Given the description of an element on the screen output the (x, y) to click on. 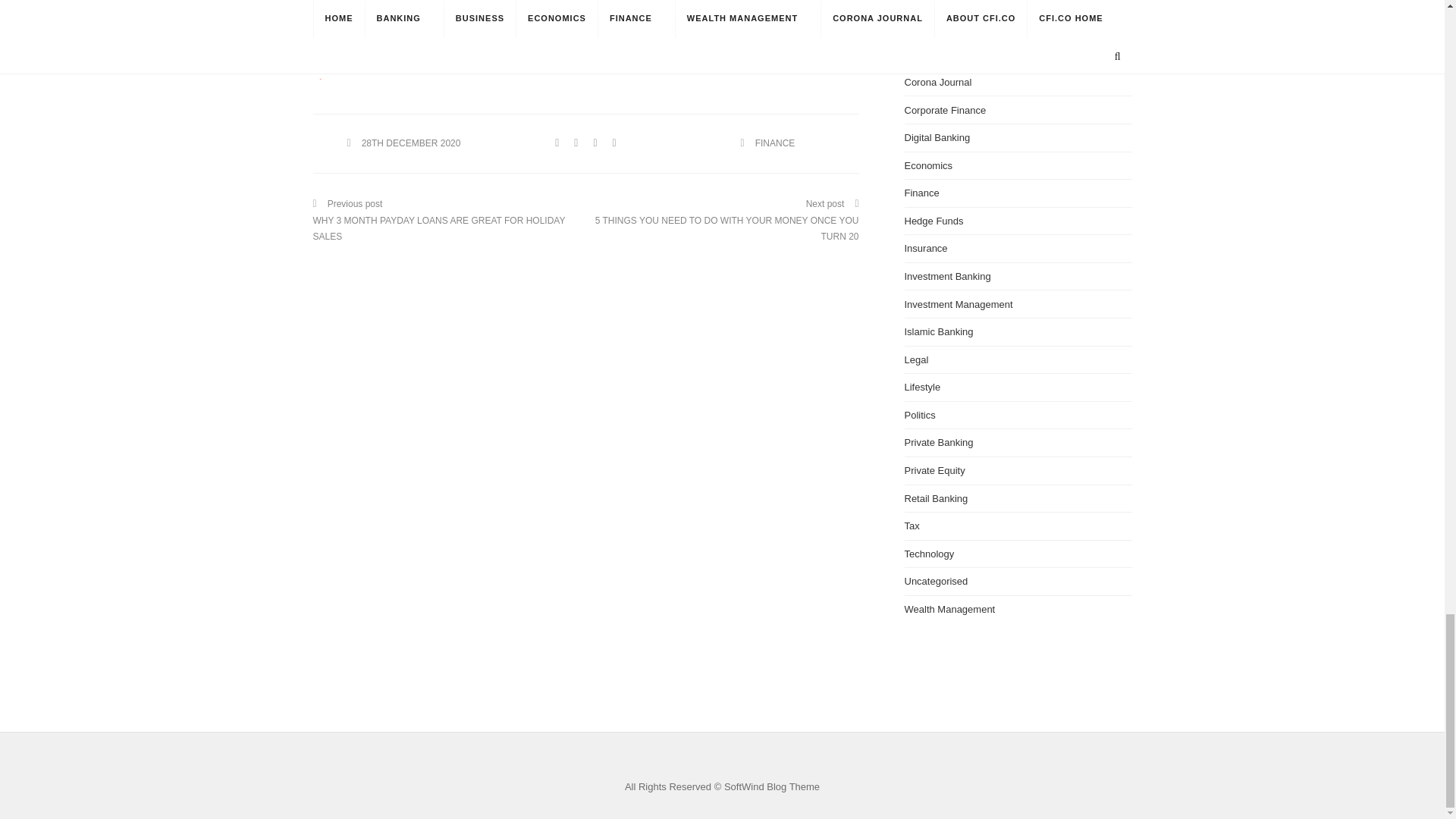
read our blog (581, 19)
0 (323, 69)
Recommend this (323, 69)
28TH DECEMBER 2020 (411, 143)
